Given the description of an element on the screen output the (x, y) to click on. 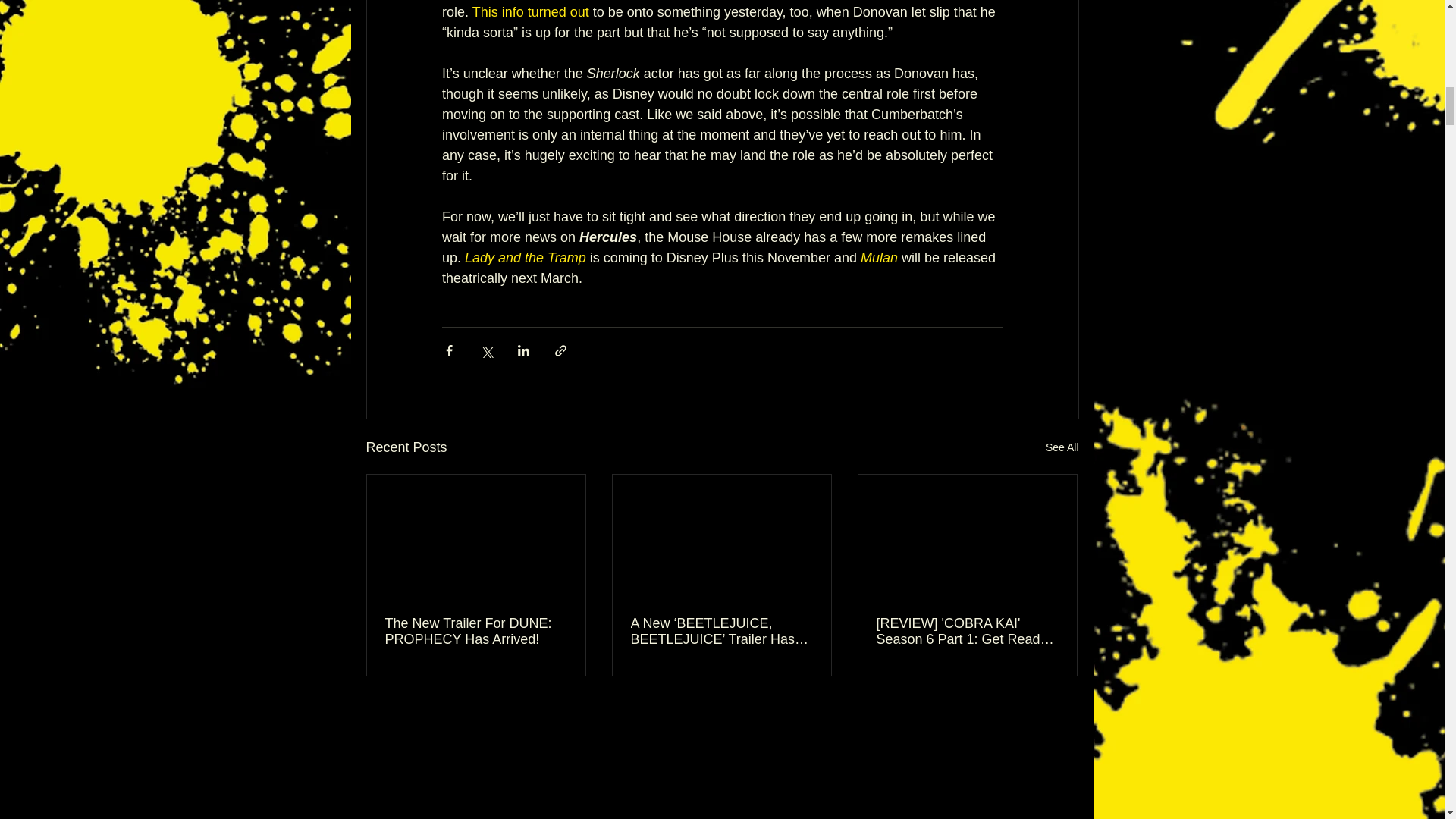
This info turned out (529, 11)
See All (1061, 447)
Mulan (878, 257)
Lady and the Tramp (525, 257)
